Given the description of an element on the screen output the (x, y) to click on. 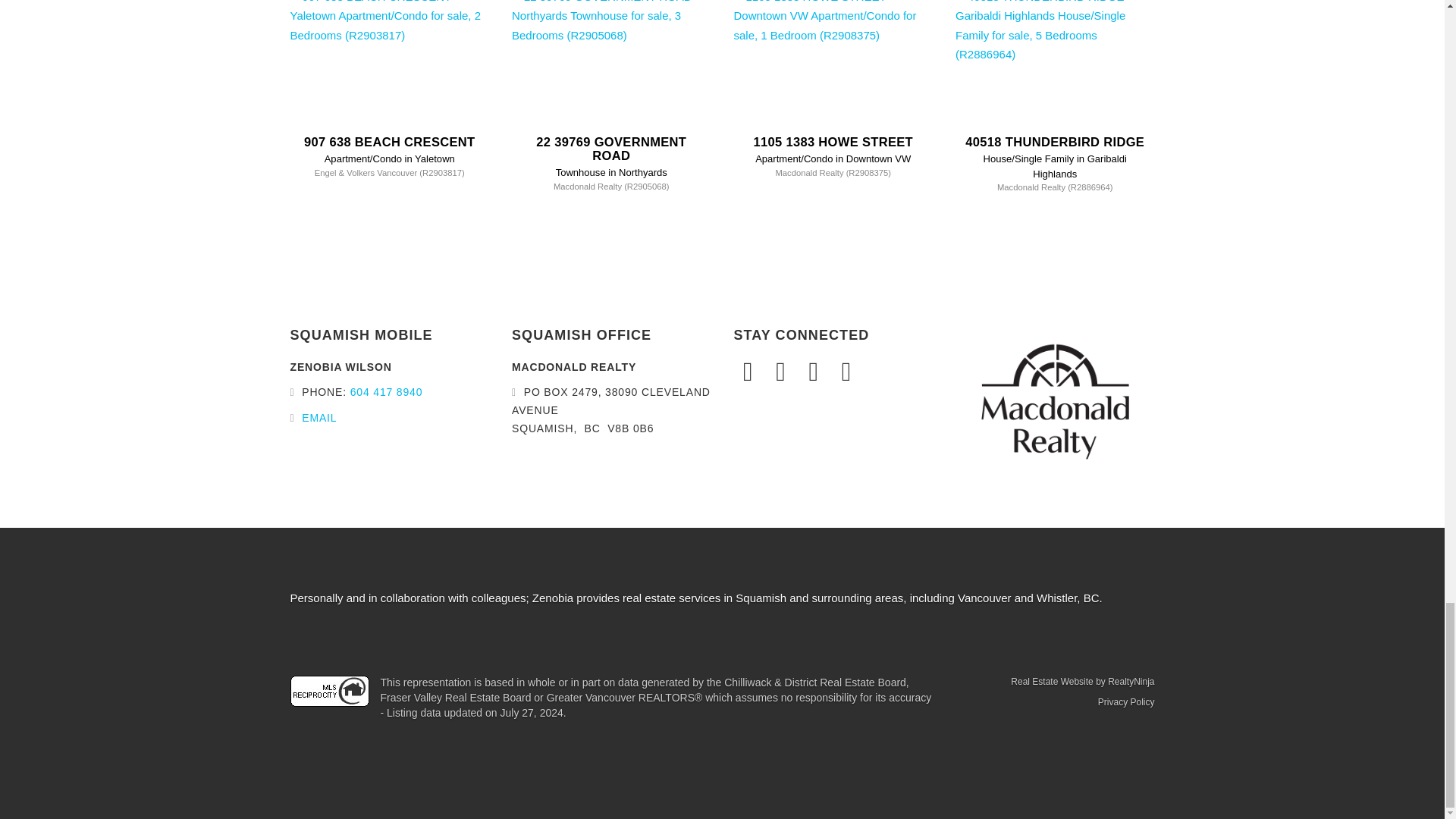
LinkedIn (815, 372)
Instagram (783, 372)
22 39769 GOVERNMENT ROAD (610, 148)
Facebook (750, 372)
907 638 BEACH CRESCENT (390, 141)
1105 1383 HOWE STREET (832, 141)
